Given the description of an element on the screen output the (x, y) to click on. 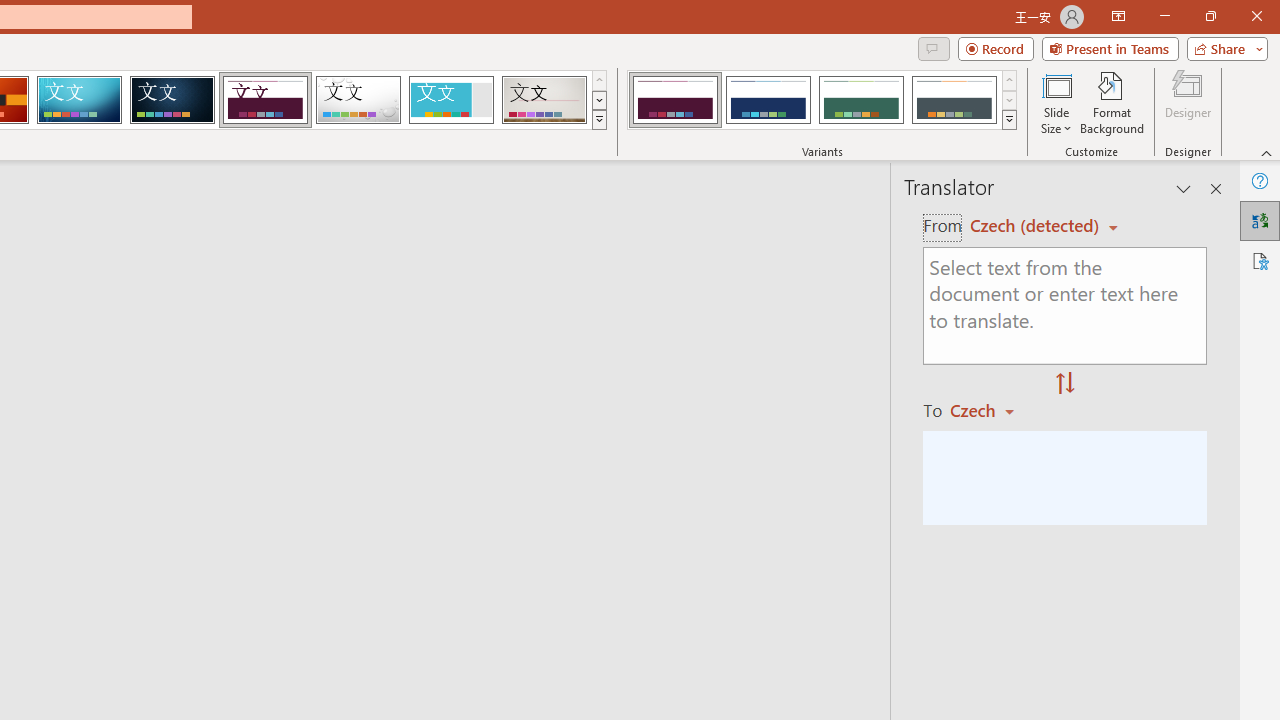
Dividend Variant 4 (953, 100)
Gallery (544, 100)
Droplet (358, 100)
Format Background (1111, 102)
Damask (171, 100)
Themes (598, 120)
Dividend Variant 1 (674, 100)
Frame (450, 100)
Dividend (265, 100)
Circuit (79, 100)
